Given the description of an element on the screen output the (x, y) to click on. 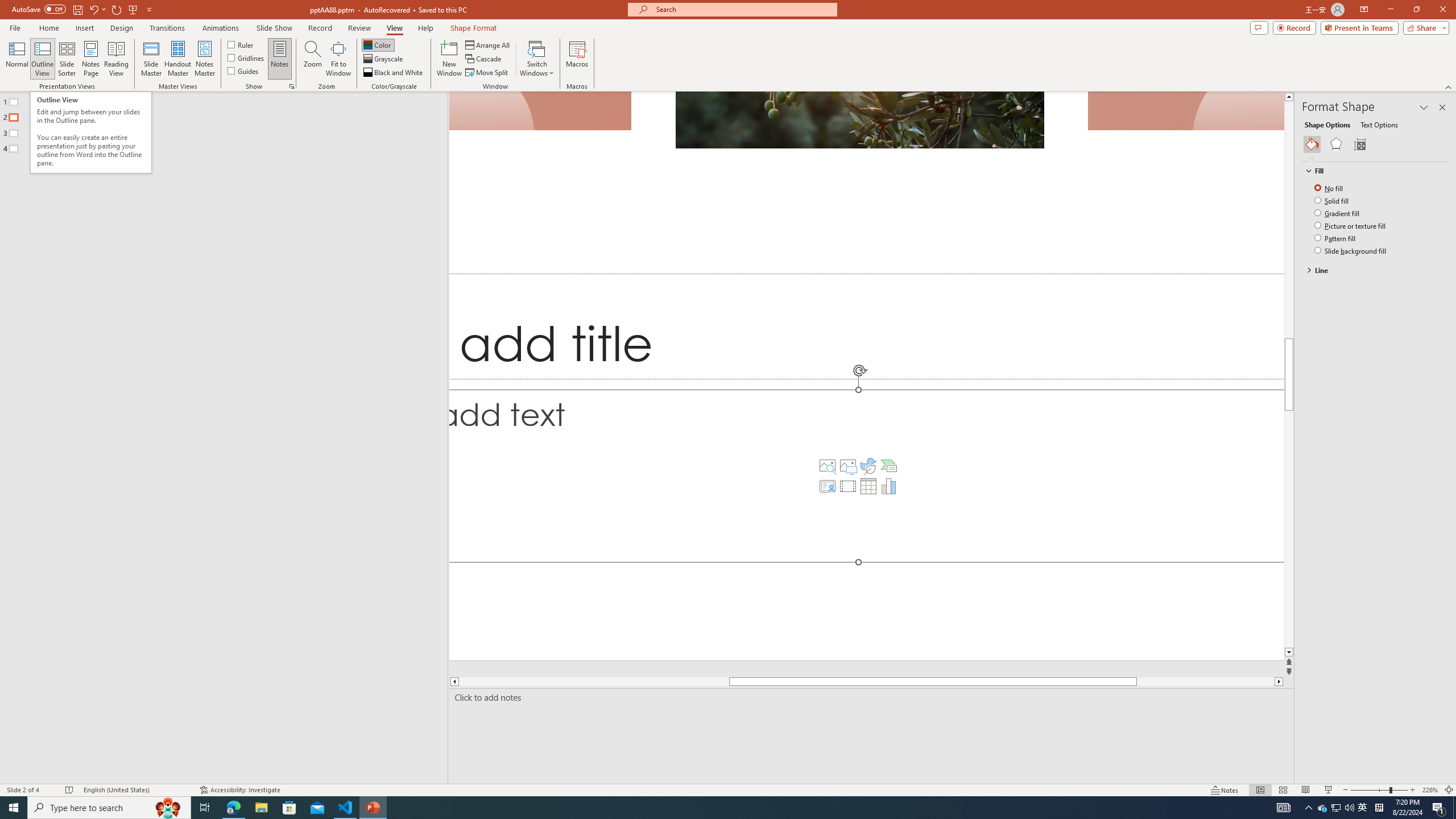
Notes Page (90, 58)
Camera 13, No camera detected. (540, 111)
Class: NetUIGalleryContainer (1375, 144)
Cascade (484, 58)
